Given the description of an element on the screen output the (x, y) to click on. 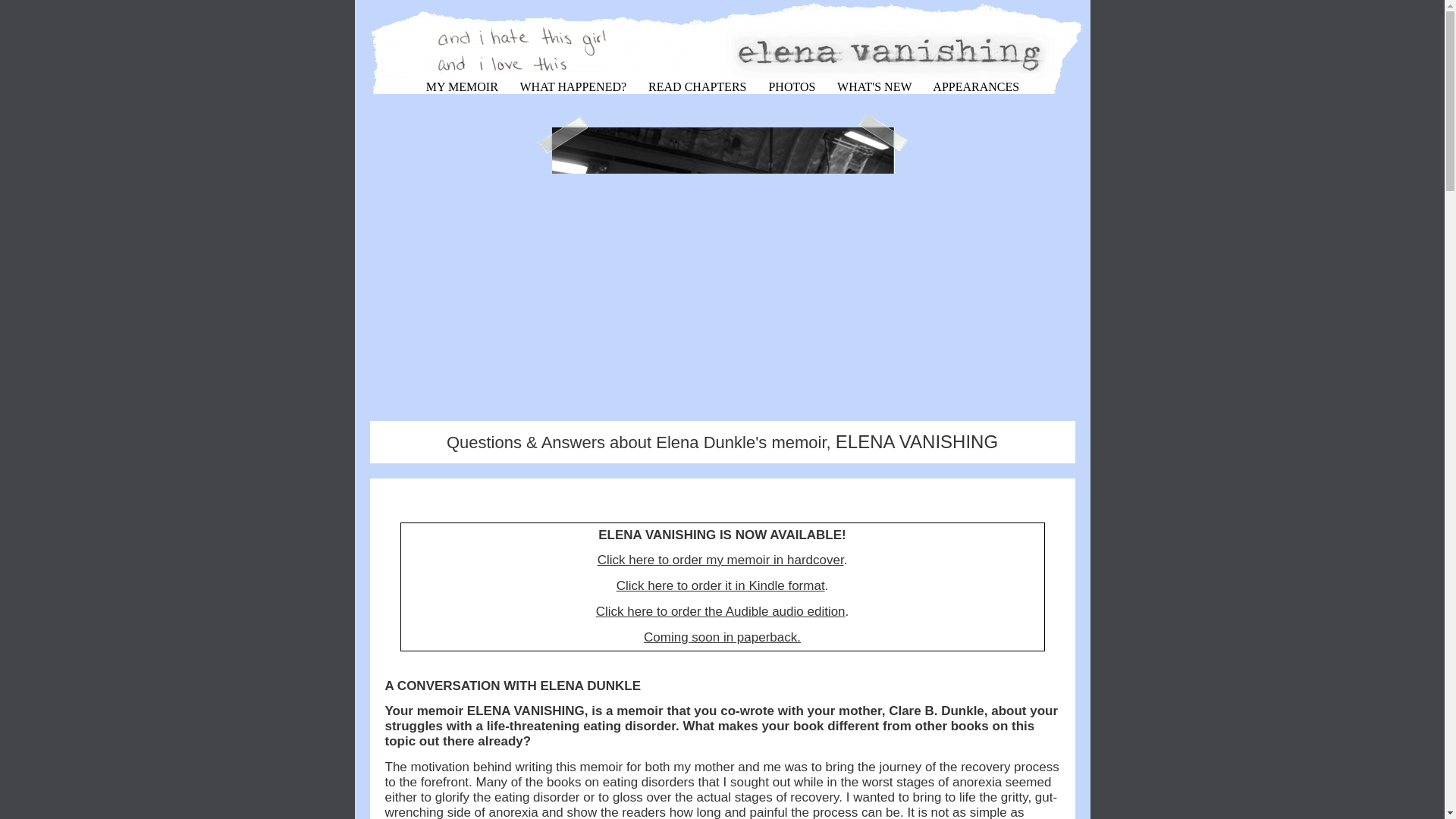
Click here to order the Audible audio edition (720, 611)
Click here to order it in Kindle format (720, 585)
 APPEARANCES  (976, 87)
 WHAT HAPPENED?  (573, 87)
 MY MEMOIR  (461, 87)
Click here to order my memoir in hardcover (720, 559)
Coming soon in paperback. (721, 636)
 PHOTOS  (791, 87)
 WHAT'S NEW  (874, 87)
 READ CHAPTERS  (697, 87)
